Given the description of an element on the screen output the (x, y) to click on. 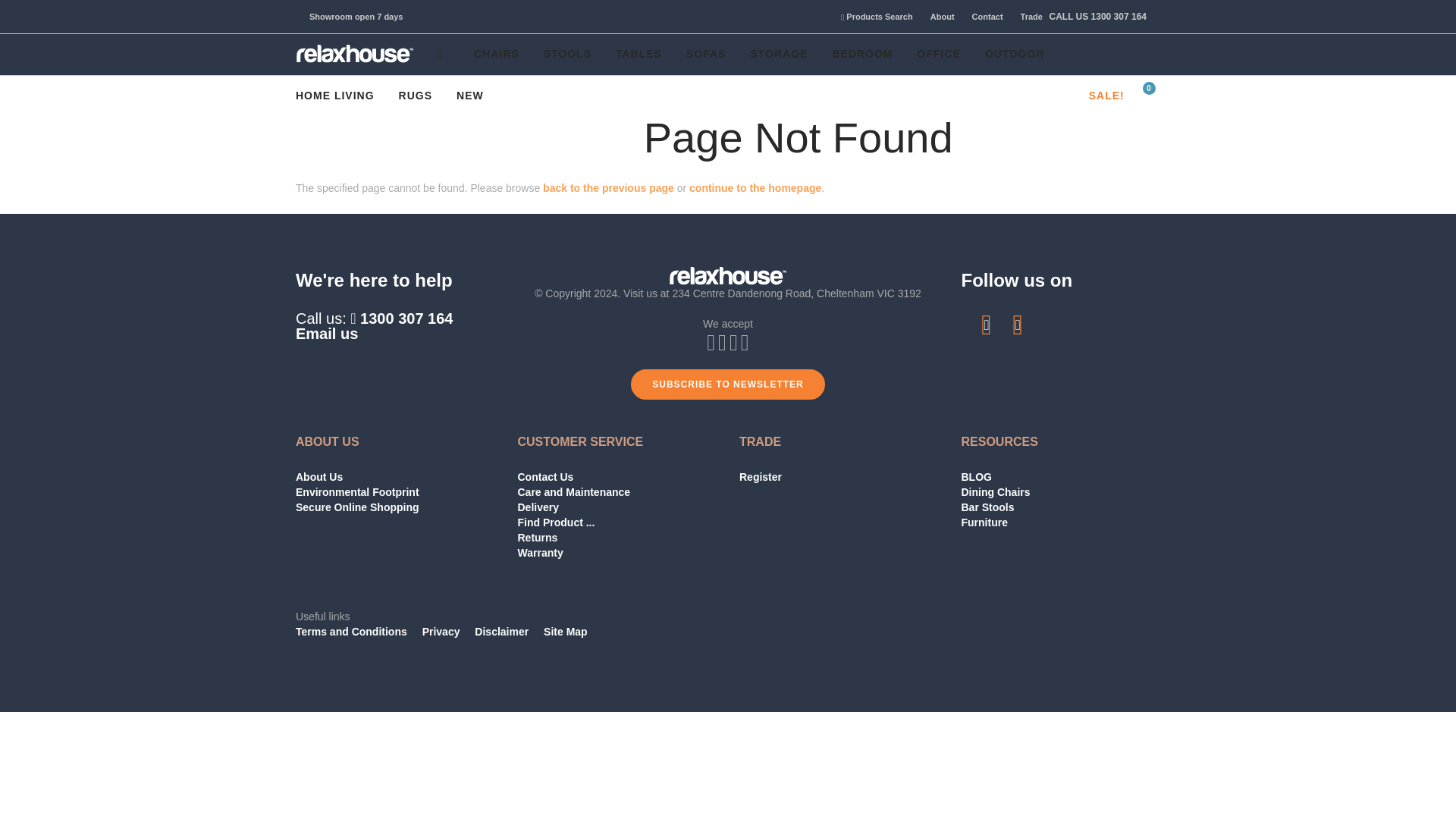
CHAIRS (496, 55)
STORAGE (778, 55)
Showroom open 7 days (355, 16)
TABLES (638, 55)
CALL US 1300 307 164 (1096, 16)
Products Search (870, 16)
Trade (1024, 16)
Contact (981, 16)
About (935, 16)
STOOLS (567, 55)
SOFAS (705, 55)
